Given the description of an element on the screen output the (x, y) to click on. 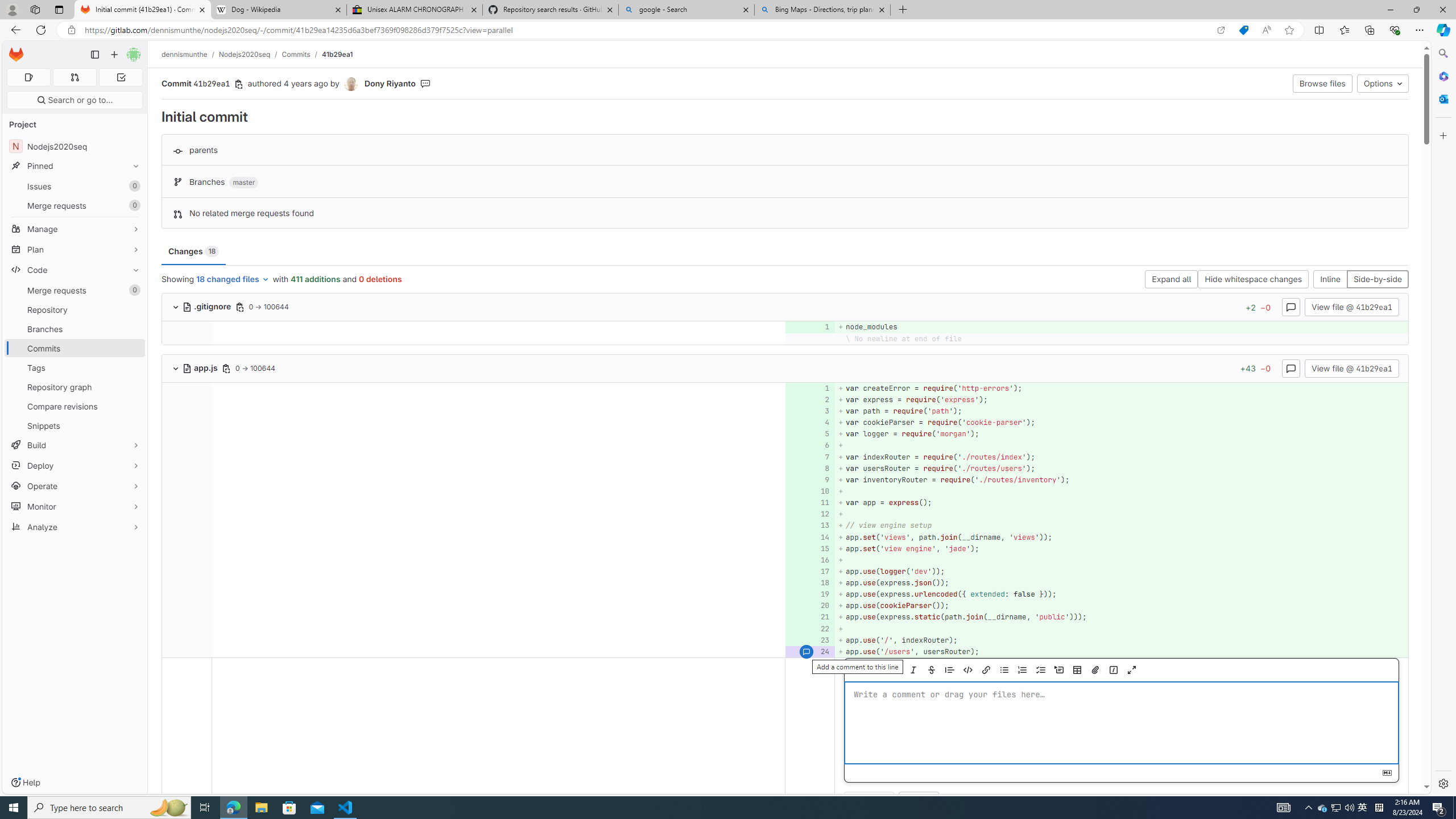
+ app.use(express.static(path.join(__dirname, 'public')));  (1120, 617)
1 (808, 387)
14 (808, 536)
Issues0 (74, 185)
Hide whitespace changes (1253, 279)
Class: s16 (187, 368)
Plan (74, 248)
+ app.set('views', path.join(__dirname, 'views'));  (1120, 536)
Options (1382, 83)
Pin Snippets (132, 425)
Inline (1329, 279)
dennismunthe (184, 53)
Analyze (74, 526)
